Given the description of an element on the screen output the (x, y) to click on. 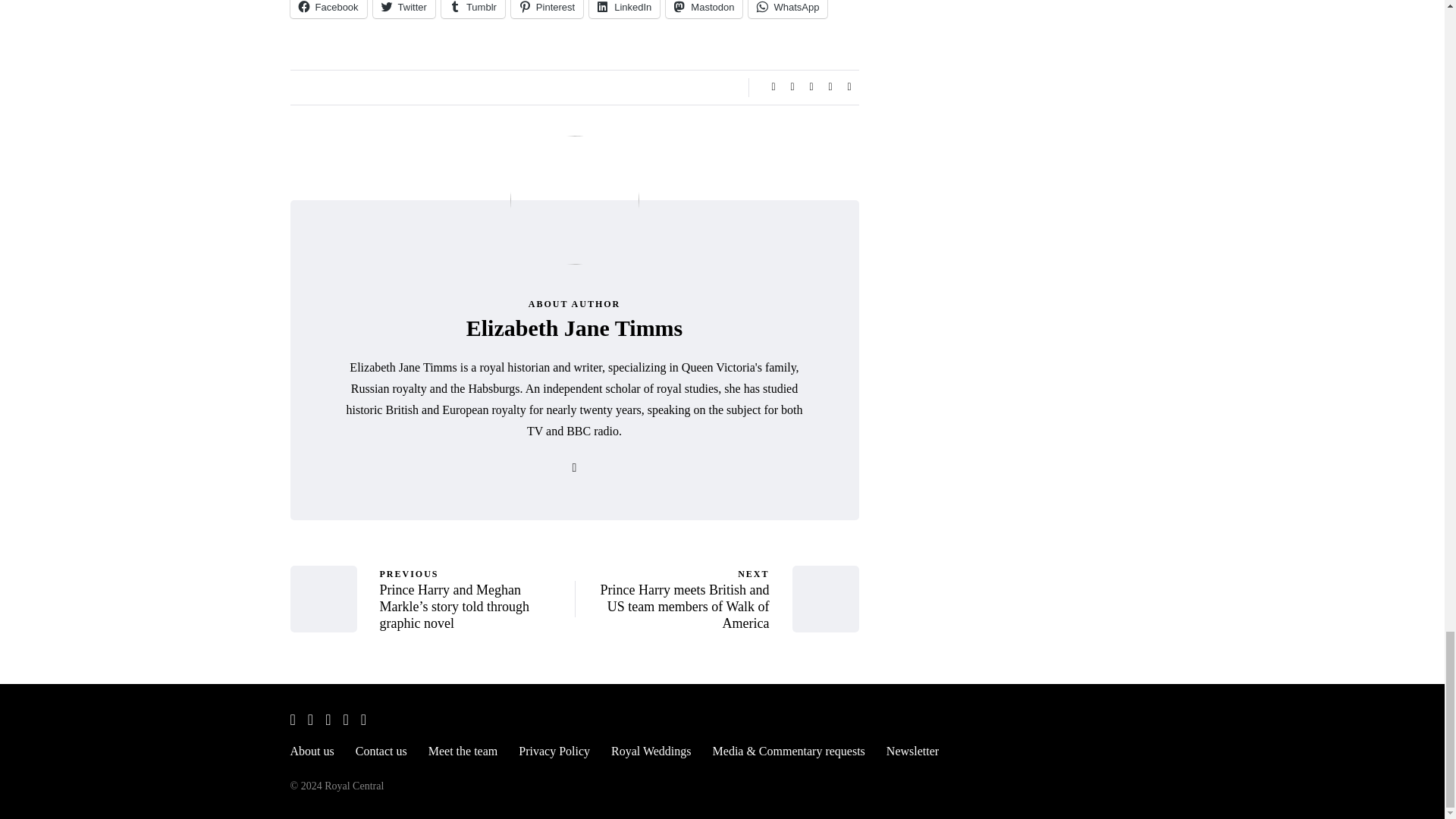
Share with Facebook (773, 87)
Click to share on Tumblr (473, 9)
Twitter (403, 9)
Mastodon (703, 9)
Share with LinkedIn (811, 87)
LinkedIn (624, 9)
Click to share on Mastodon (703, 9)
Click to share on WhatsApp (787, 9)
Tweet this (792, 87)
Click to share on Facebook (327, 9)
Facebook (327, 9)
Click to share on Pinterest (547, 9)
WhatsApp (787, 9)
Click to share on LinkedIn (624, 9)
Click to share on Twitter (403, 9)
